Given the description of an element on the screen output the (x, y) to click on. 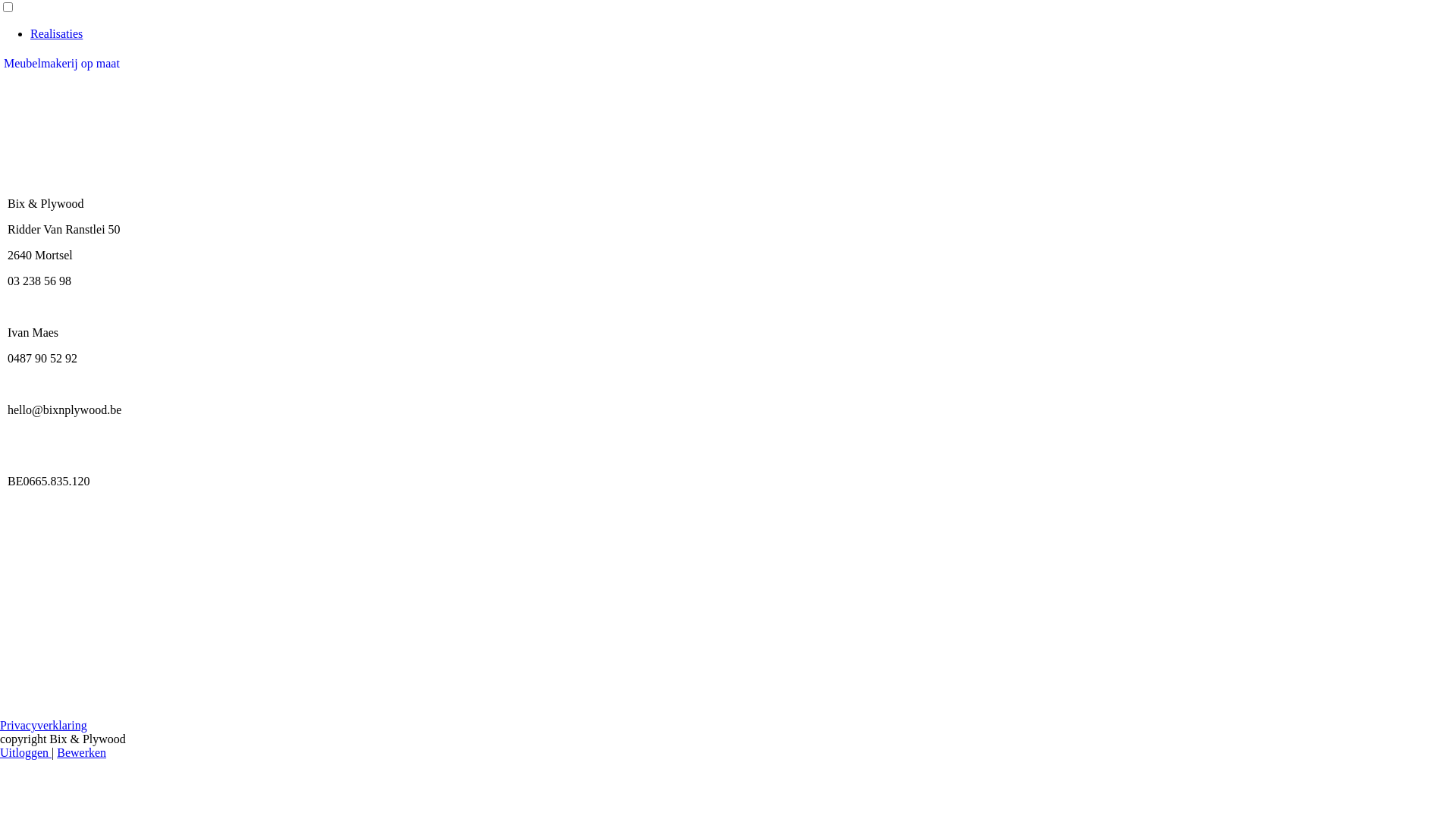
Bewerken Element type: text (81, 752)
Uitloggen Element type: text (25, 752)
Privacyverklaring Element type: text (43, 724)
Realisaties Element type: text (56, 33)
Meubelmakerij op maat Element type: text (61, 62)
